Given the description of an element on the screen output the (x, y) to click on. 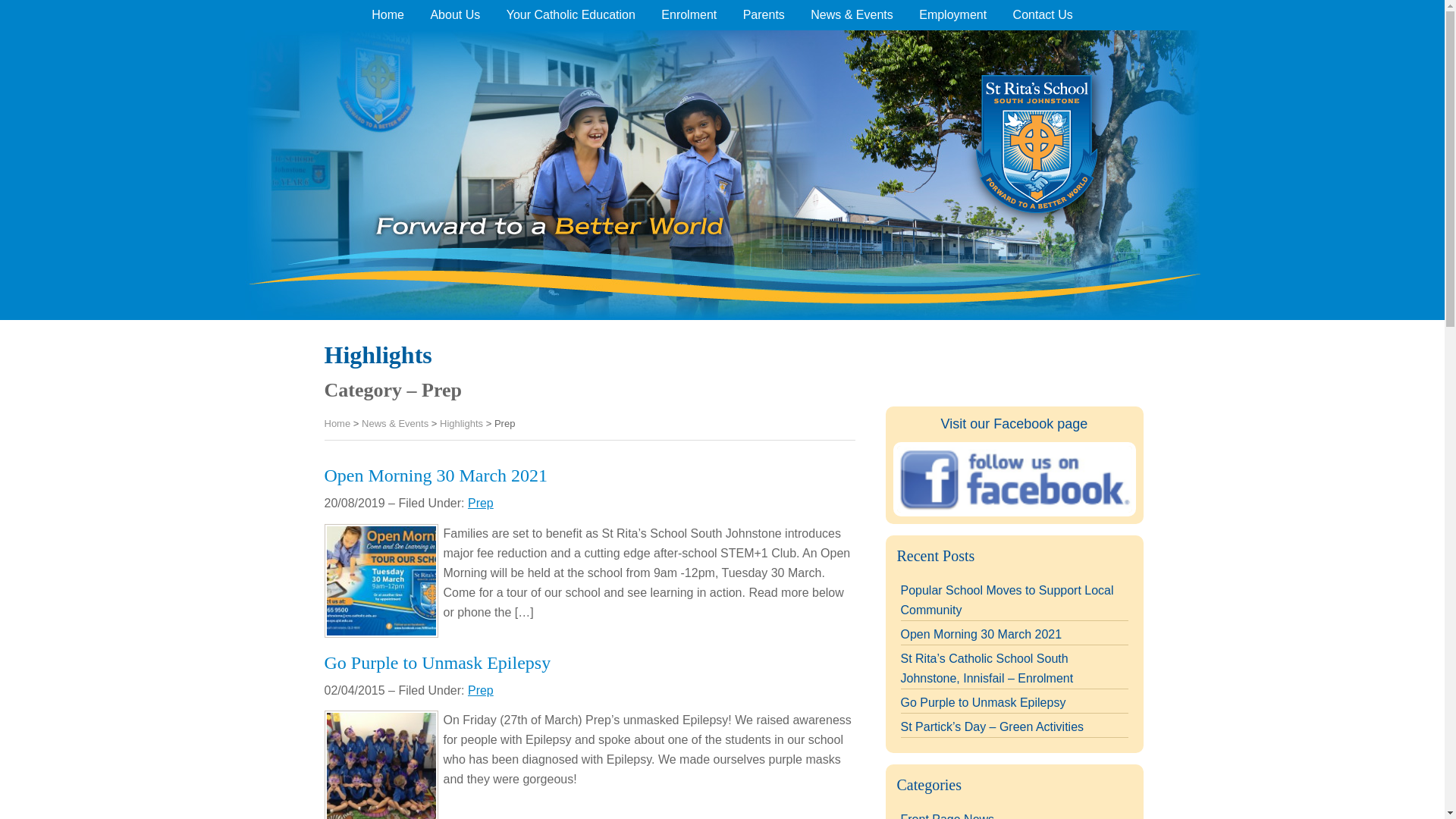
Home (337, 423)
Enrolment (688, 15)
Highlights (461, 423)
Contact Us (1042, 15)
Home (386, 15)
Go to Highlights. (461, 423)
About Us (455, 15)
Your Catholic Education (570, 15)
Employment (952, 15)
Open Morning 30 March 2021 (436, 475)
Home (337, 423)
Parents (764, 15)
